Given the description of an element on the screen output the (x, y) to click on. 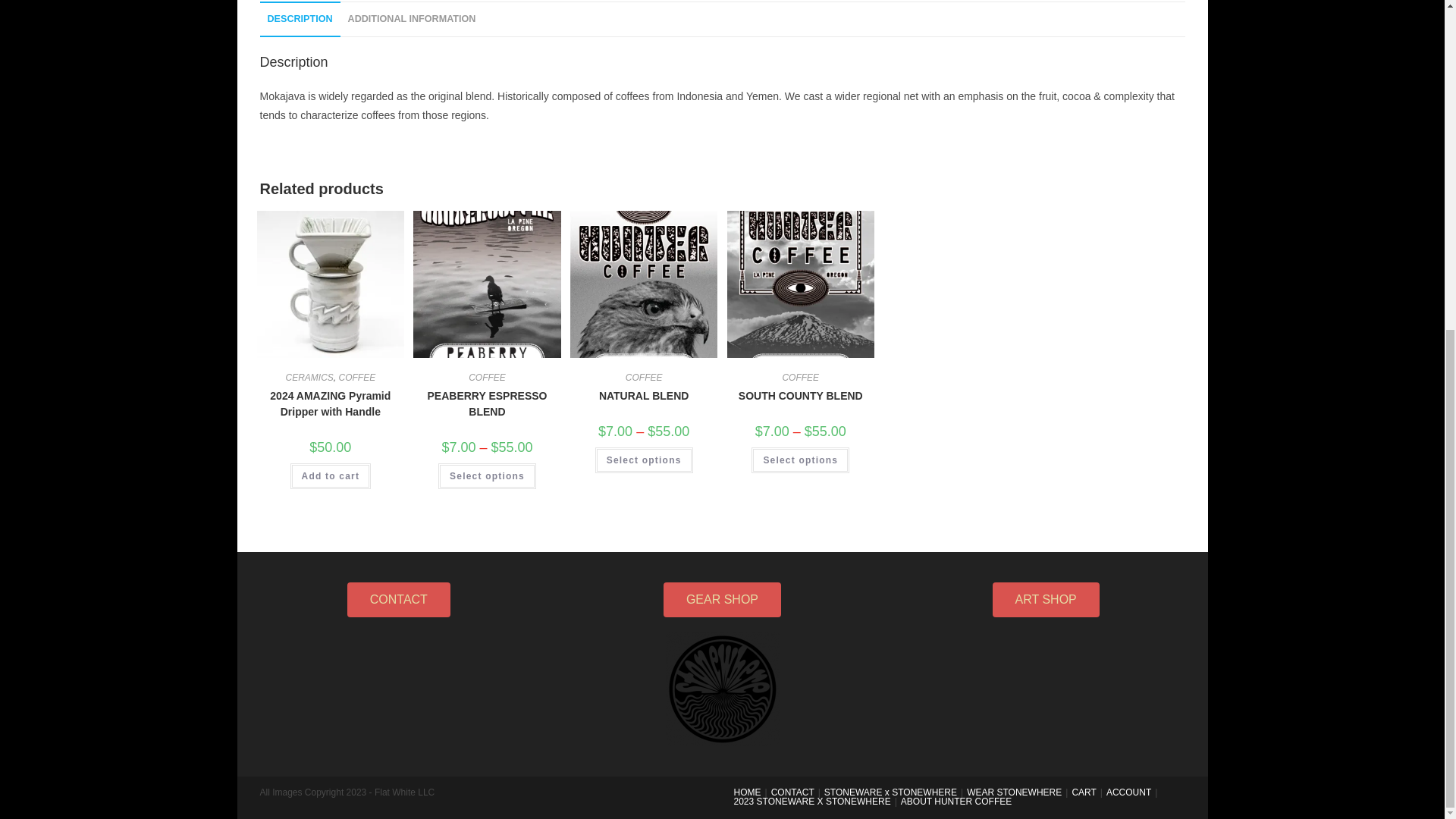
2024 AMAZING Pyramid Dripper with Handle (330, 404)
COFFEE (356, 377)
CERAMICS (309, 377)
DESCRIPTION (299, 18)
ADDITIONAL INFORMATION (411, 18)
Add to cart (330, 475)
